Given the description of an element on the screen output the (x, y) to click on. 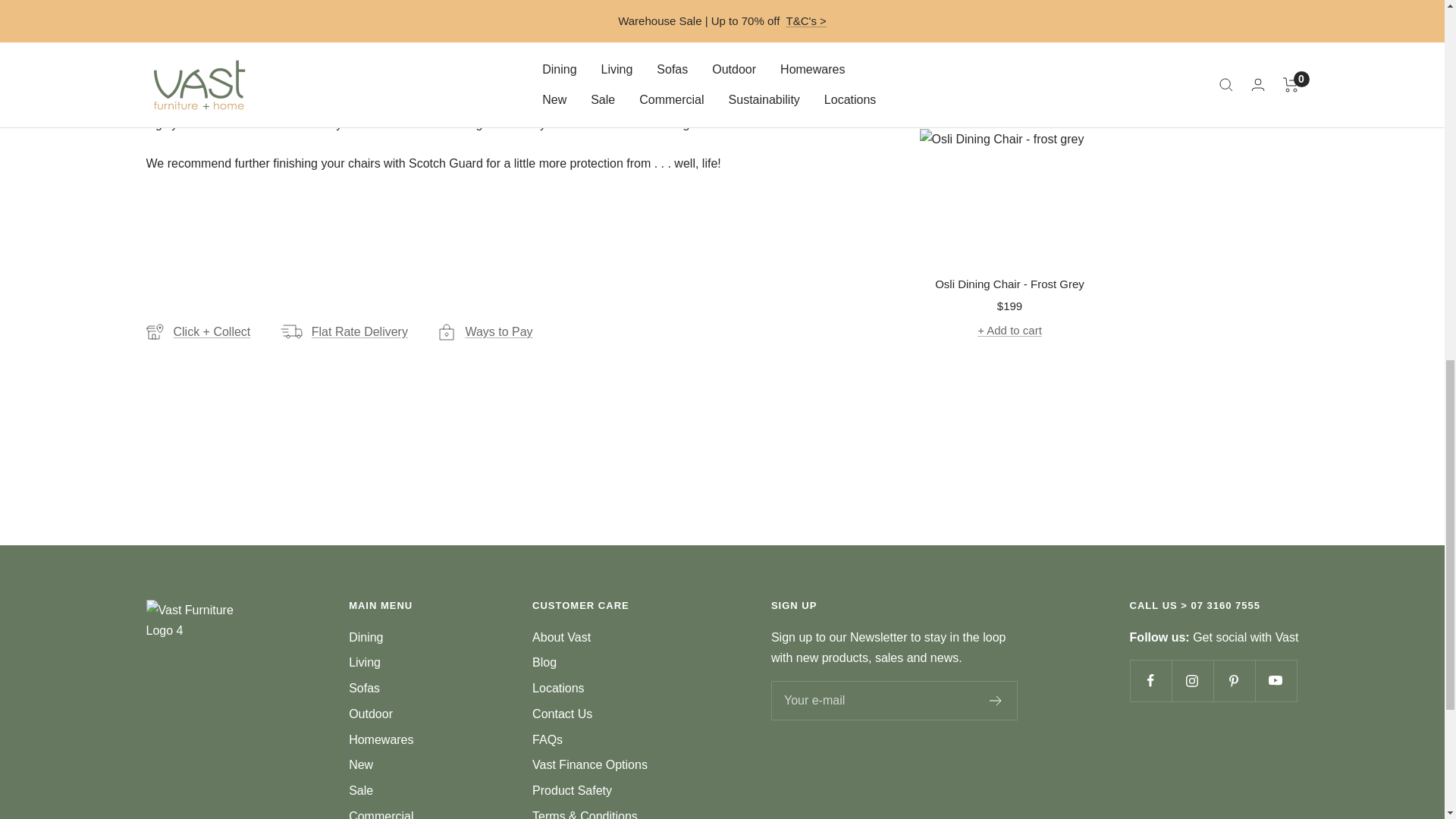
Register (996, 700)
